Given the description of an element on the screen output the (x, y) to click on. 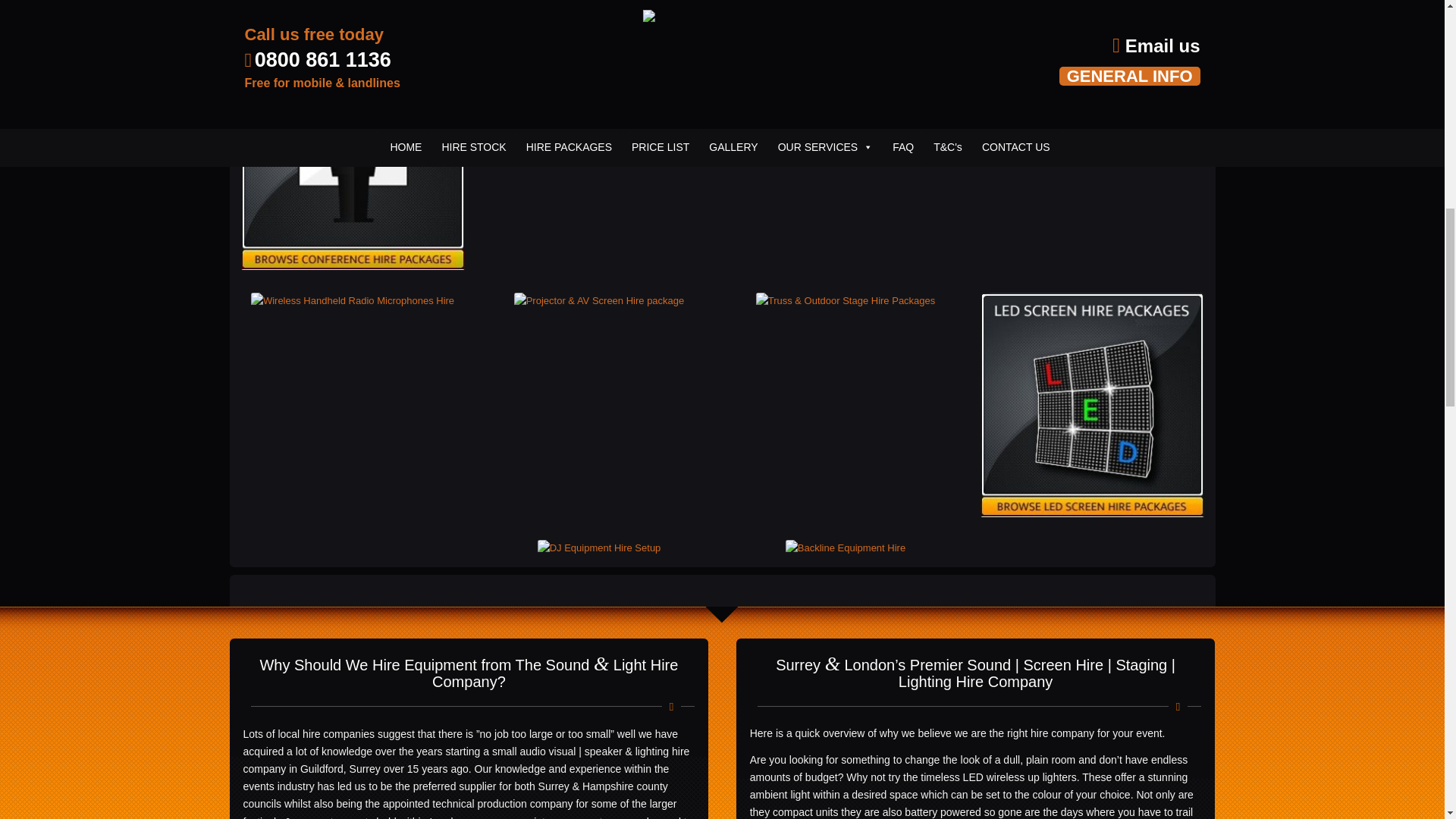
LED Screen Hire Packages (1091, 404)
Conference Hire Package (352, 157)
DJ Equipment Hire Setup (599, 547)
SOUND HIRE PACKAGES (352, 11)
Wireless Handheld Radio Microphones Hire (352, 300)
LED Dance Floor Hire packages (598, 53)
LED FURNITURE HIRE in Surrey (844, 53)
